Given the description of an element on the screen output the (x, y) to click on. 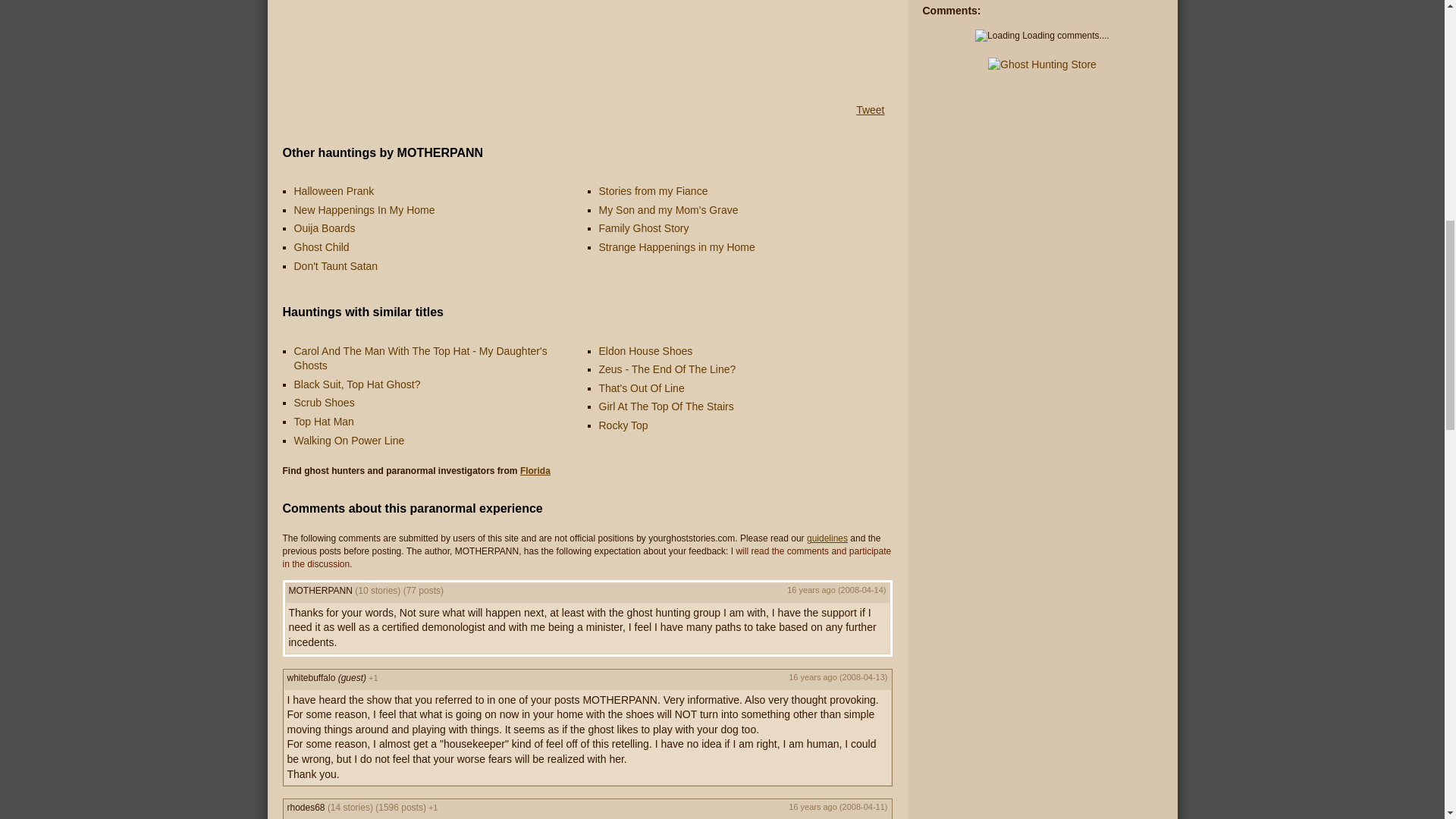
Halloween Prank (334, 191)
Tweet (869, 110)
New Happenings In My Home (364, 209)
My Son and my Mom's Grave (668, 209)
Ouija Boards (324, 227)
Family Ghost Story (643, 227)
Stories from my Fiance (652, 191)
Ghost Child (321, 246)
Don't Taunt Satan (336, 265)
